Given the description of an element on the screen output the (x, y) to click on. 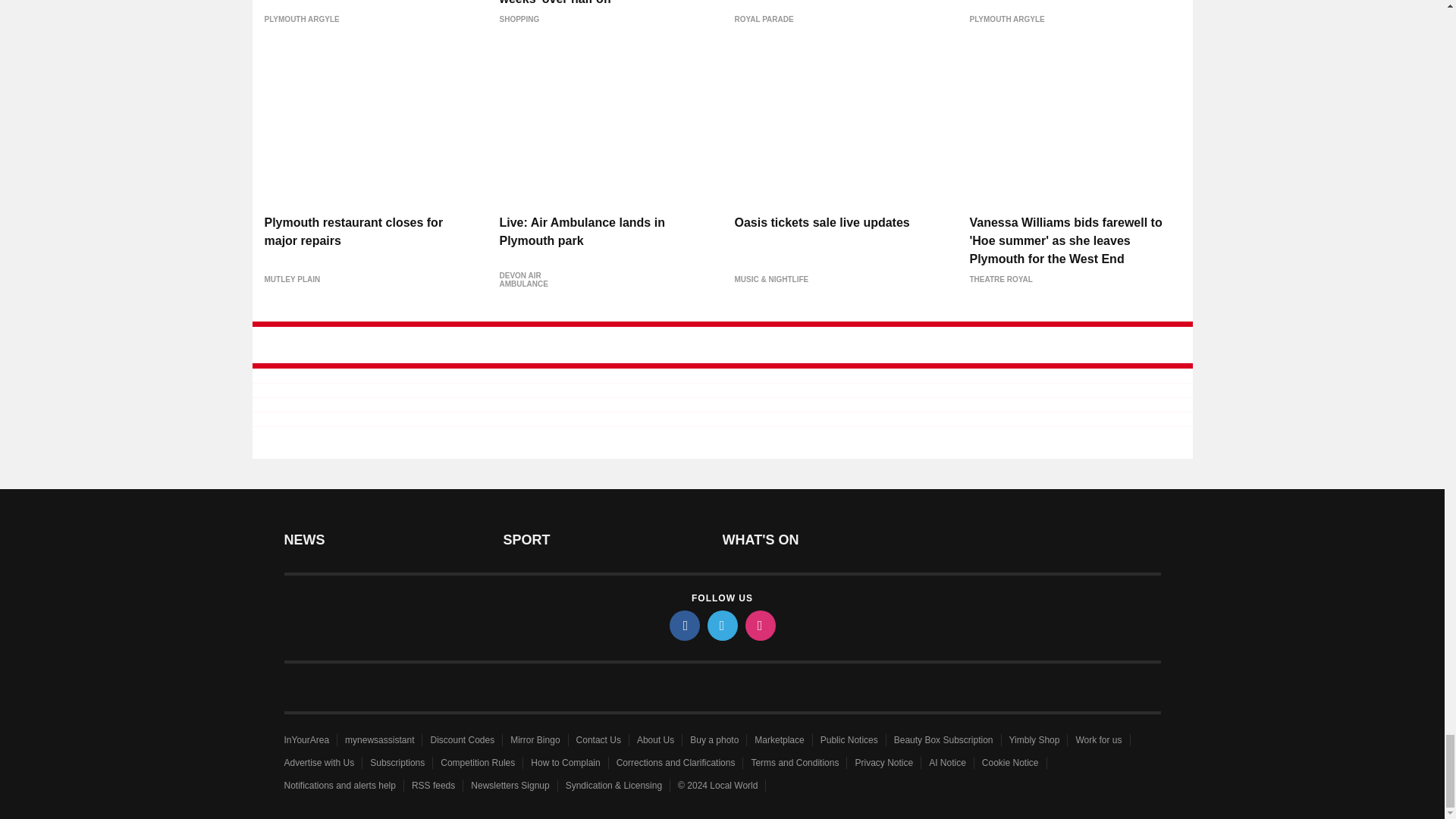
instagram (759, 625)
twitter (721, 625)
facebook (683, 625)
